Given the description of an element on the screen output the (x, y) to click on. 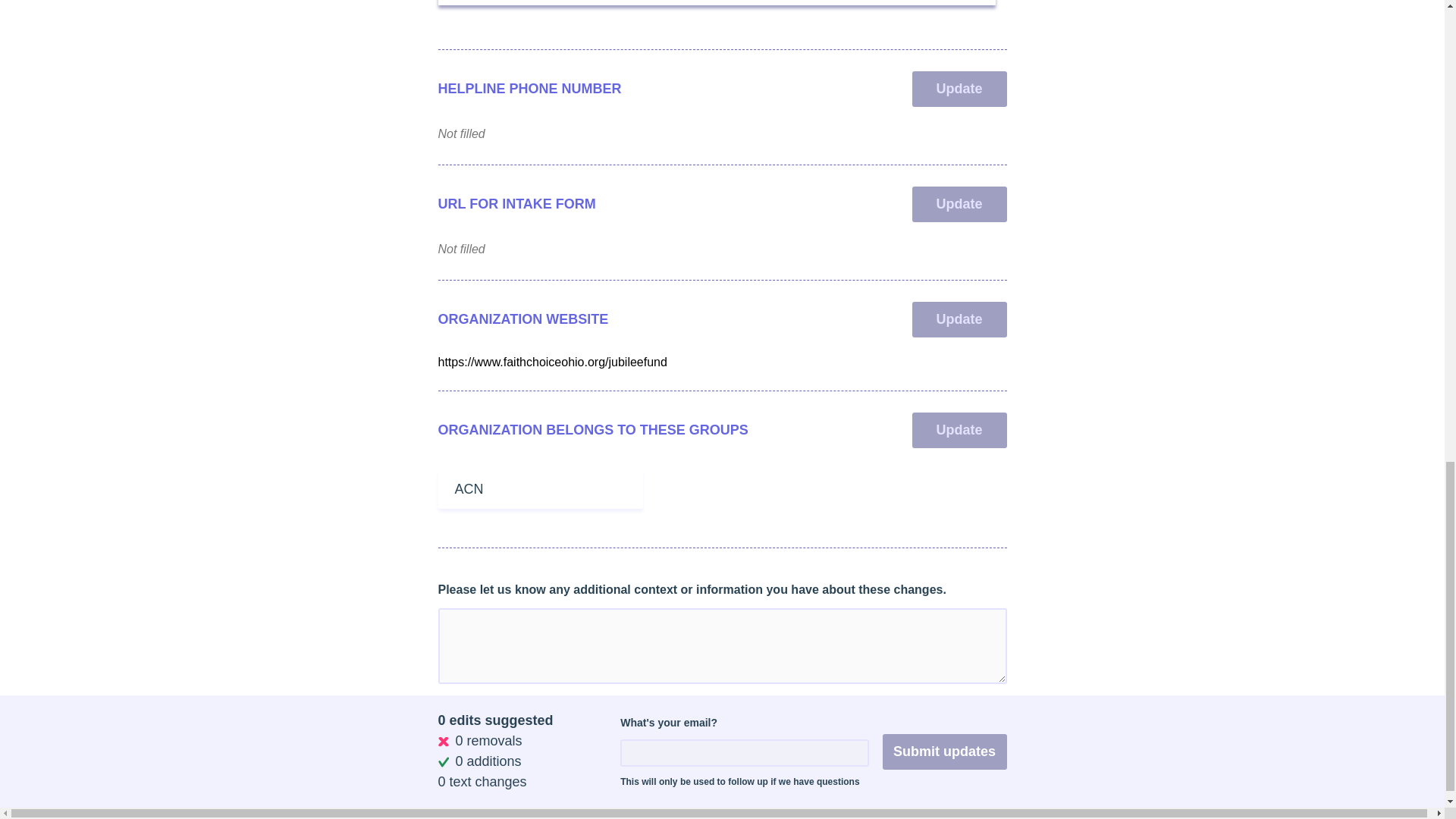
Update (958, 429)
Update (958, 319)
Update (958, 203)
Update (958, 89)
